Given the description of an element on the screen output the (x, y) to click on. 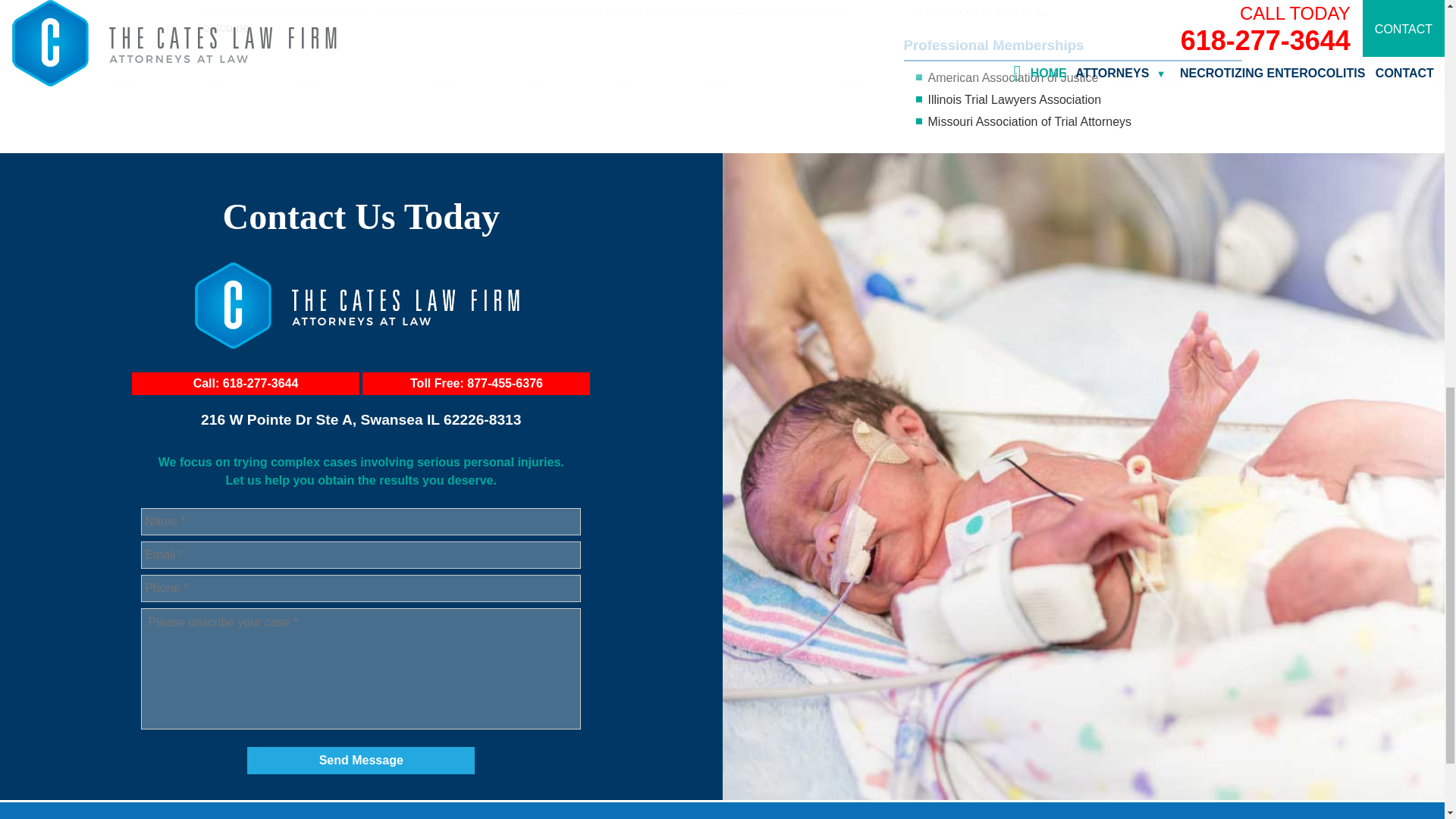
Toll Free: 877-455-6376 (475, 383)
Send Message (360, 759)
Call: 618-277-3644 (245, 383)
Send Message (360, 759)
